Given the description of an element on the screen output the (x, y) to click on. 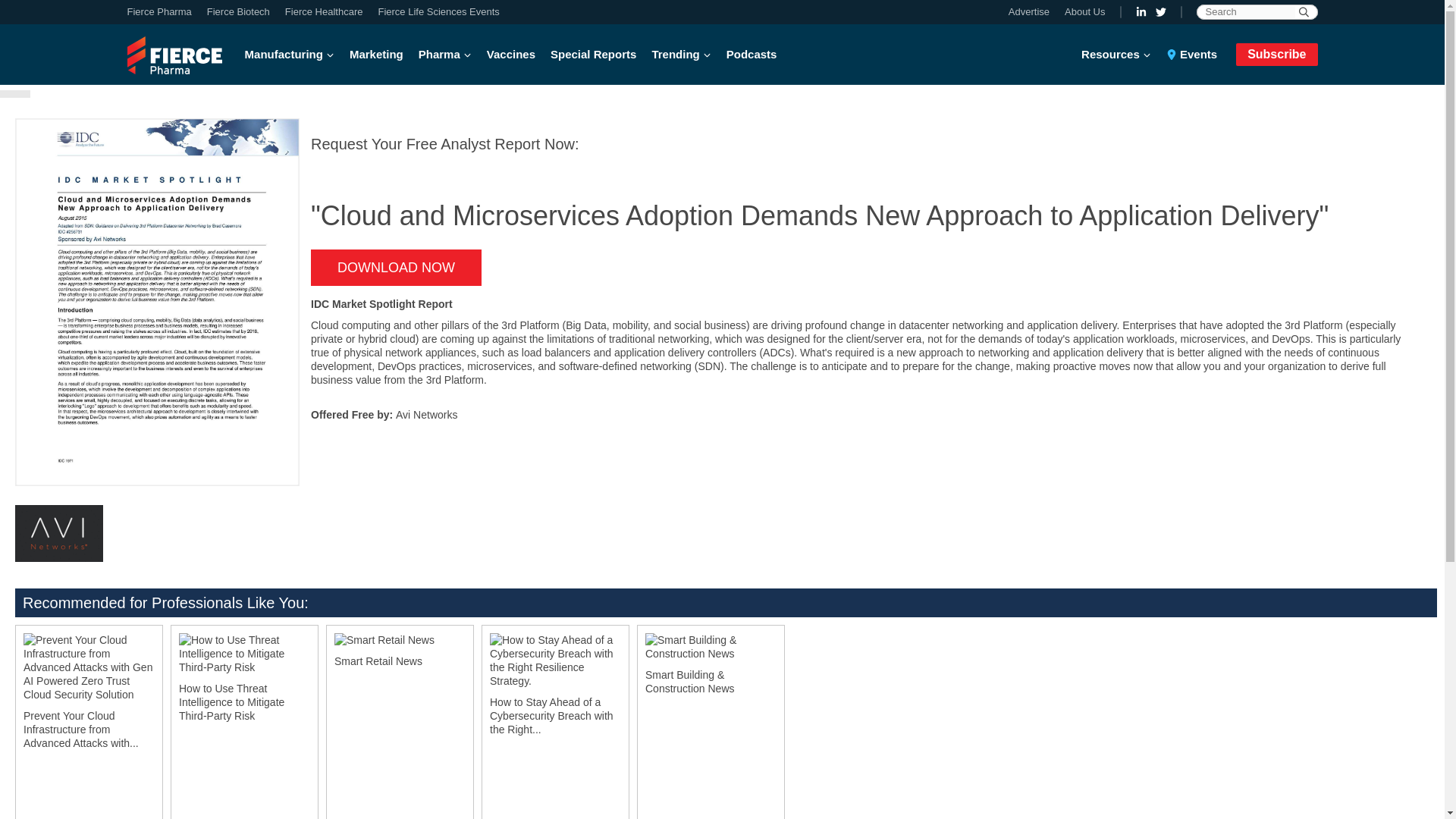
Resources (1119, 54)
Life Sciences Events (434, 12)
Advertise (1033, 12)
Pharma (444, 54)
Manufacturing (293, 54)
Marketing (376, 54)
Subscribe (1276, 53)
Special Reports (593, 54)
Vaccines (511, 54)
Trending Topics (680, 54)
